Given the description of an element on the screen output the (x, y) to click on. 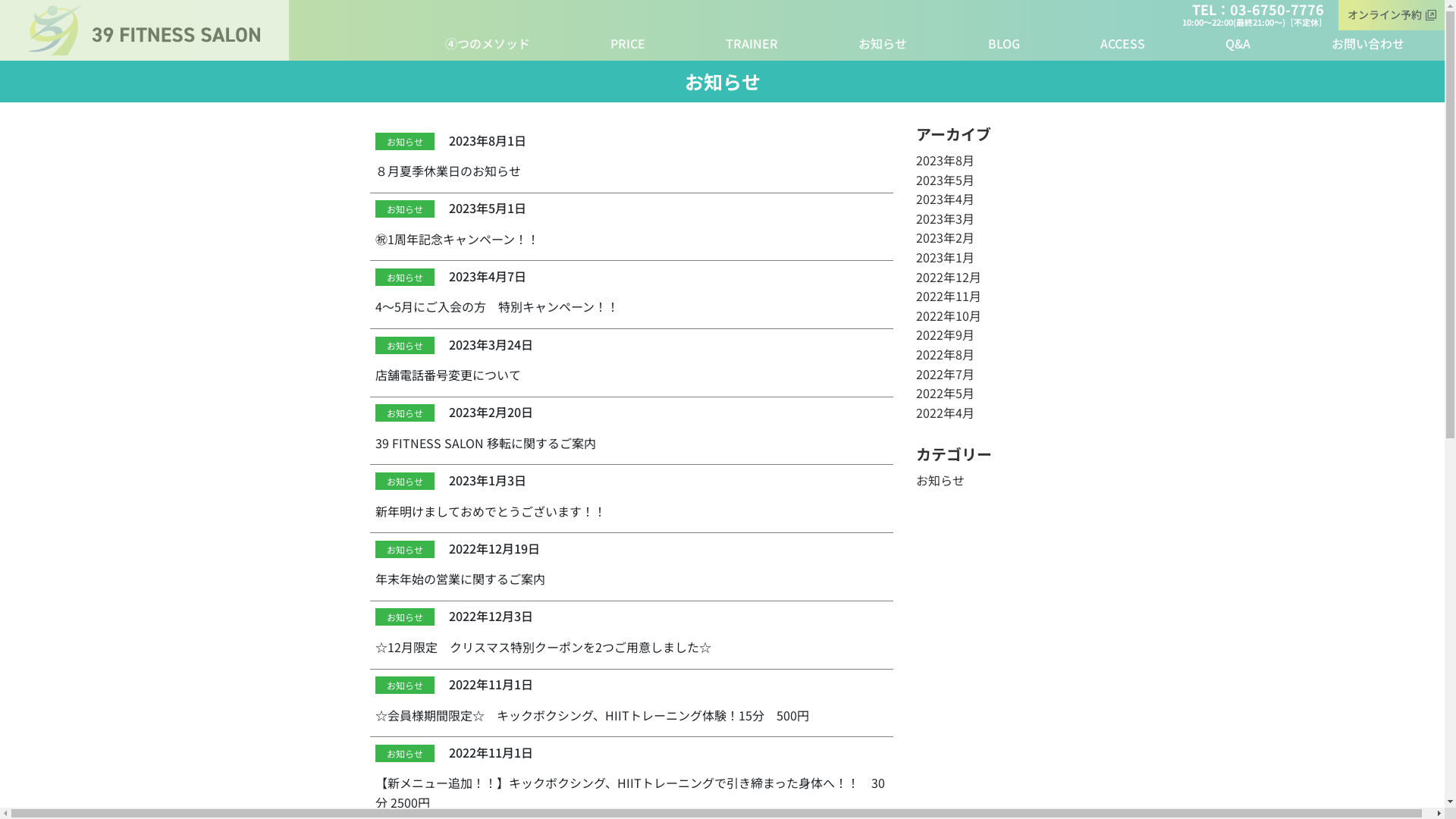
ACCESS Element type: text (1122, 43)
TRAINER Element type: text (751, 43)
PRICE Element type: text (627, 43)
Q&A Element type: text (1237, 43)
BLOG Element type: text (1003, 43)
